Given the description of an element on the screen output the (x, y) to click on. 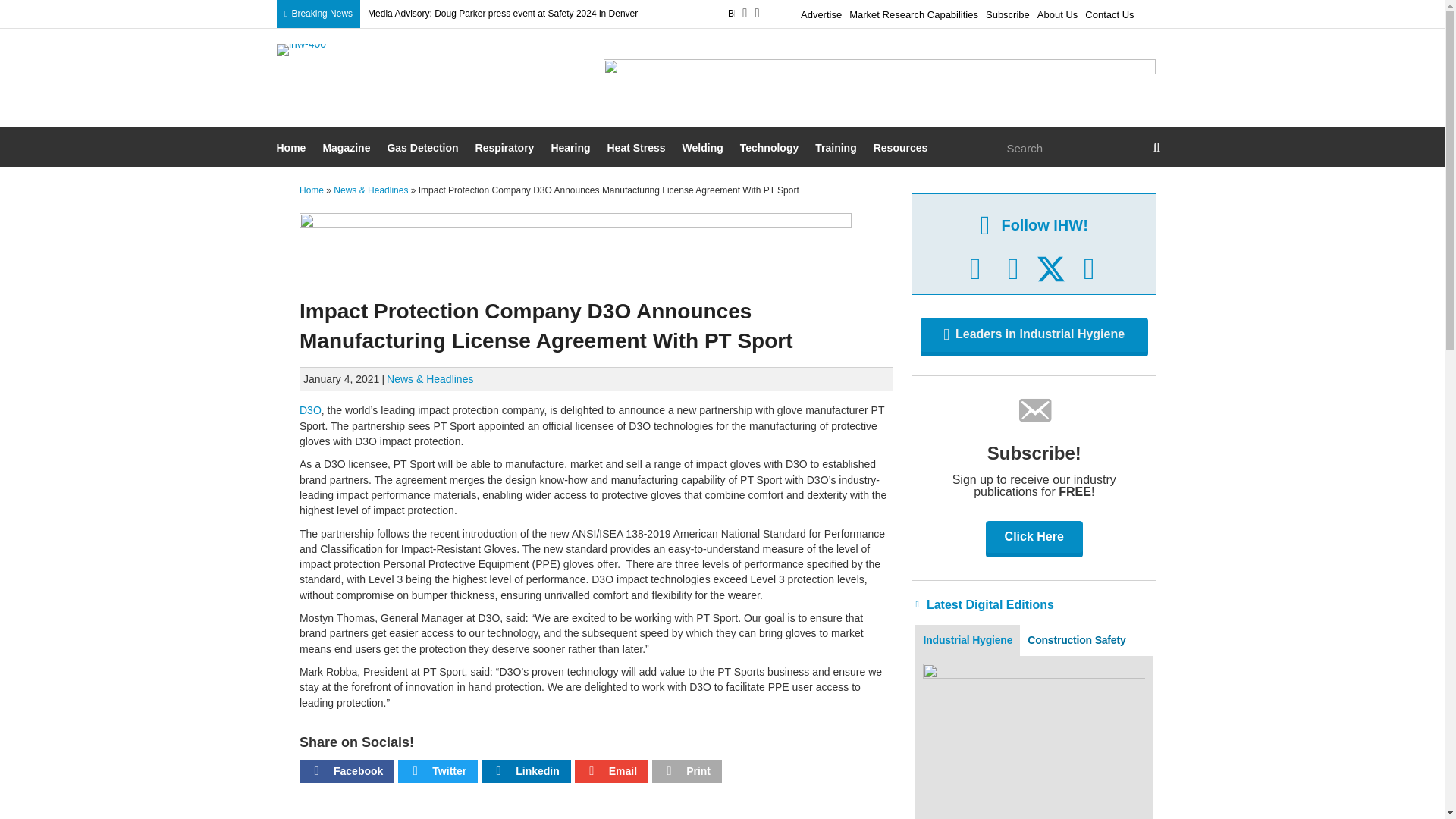
Respiratory (507, 148)
Facebook (975, 269)
Gas Detection (424, 148)
Magazine (347, 148)
LinkedIn (1012, 269)
About Us (1057, 11)
Contact Us (1109, 11)
Hearing (572, 148)
Subscribe (1007, 11)
Technology (771, 148)
Advertise (820, 11)
Welding (704, 148)
Market Research Capabilities (913, 11)
